Given the description of an element on the screen output the (x, y) to click on. 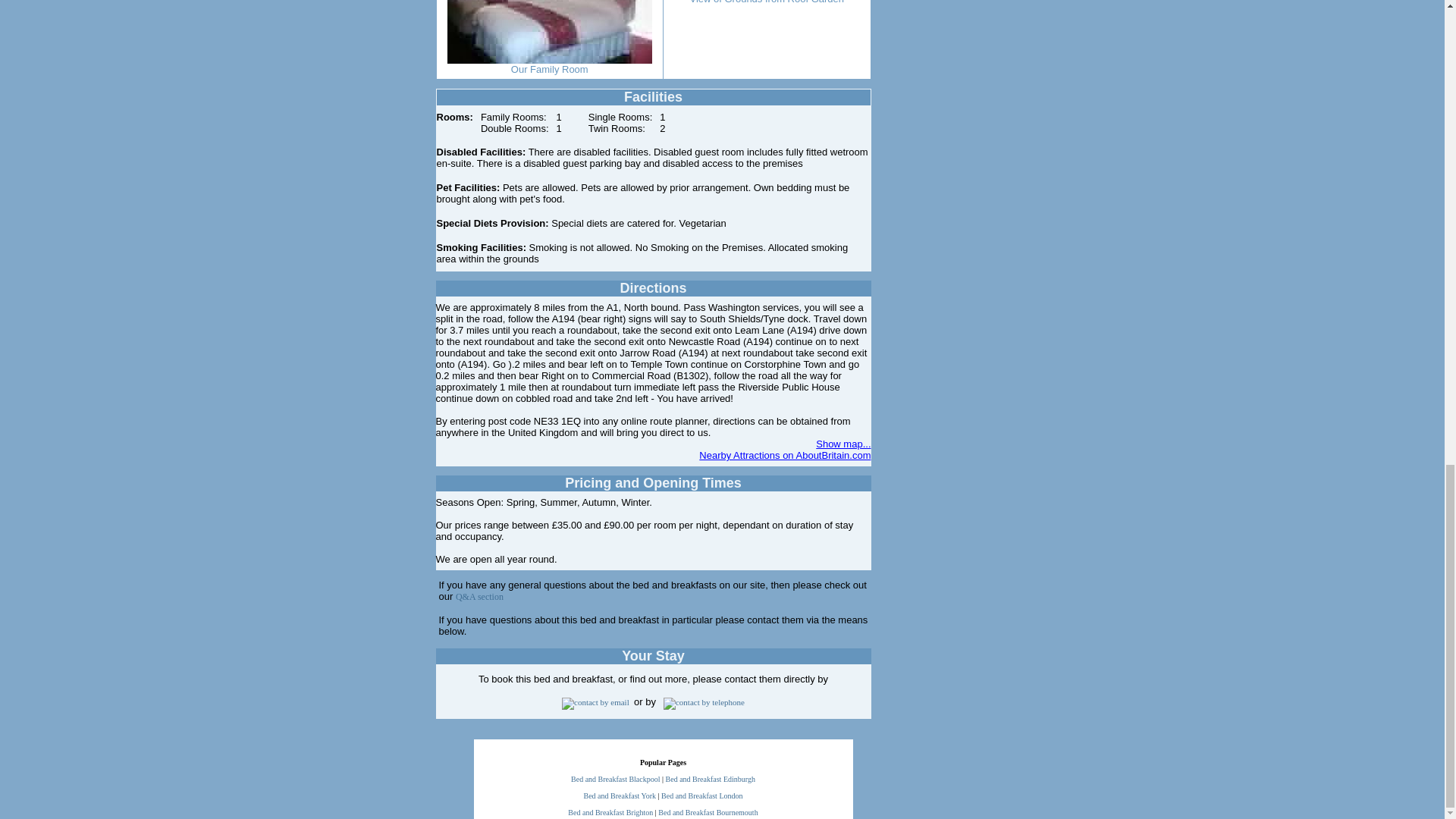
Bed and Breakfast Brighton (609, 812)
Bed and Breakfast Edinburgh (710, 778)
Nearby Attractions on AboutBritain.com (784, 455)
Show map... (842, 443)
Bed and Breakfast York (619, 795)
Bed and Breakfast Blackpool (614, 778)
Bed and Breakfast London (701, 795)
Bed and Breakfast Bournemouth (707, 812)
